Given the description of an element on the screen output the (x, y) to click on. 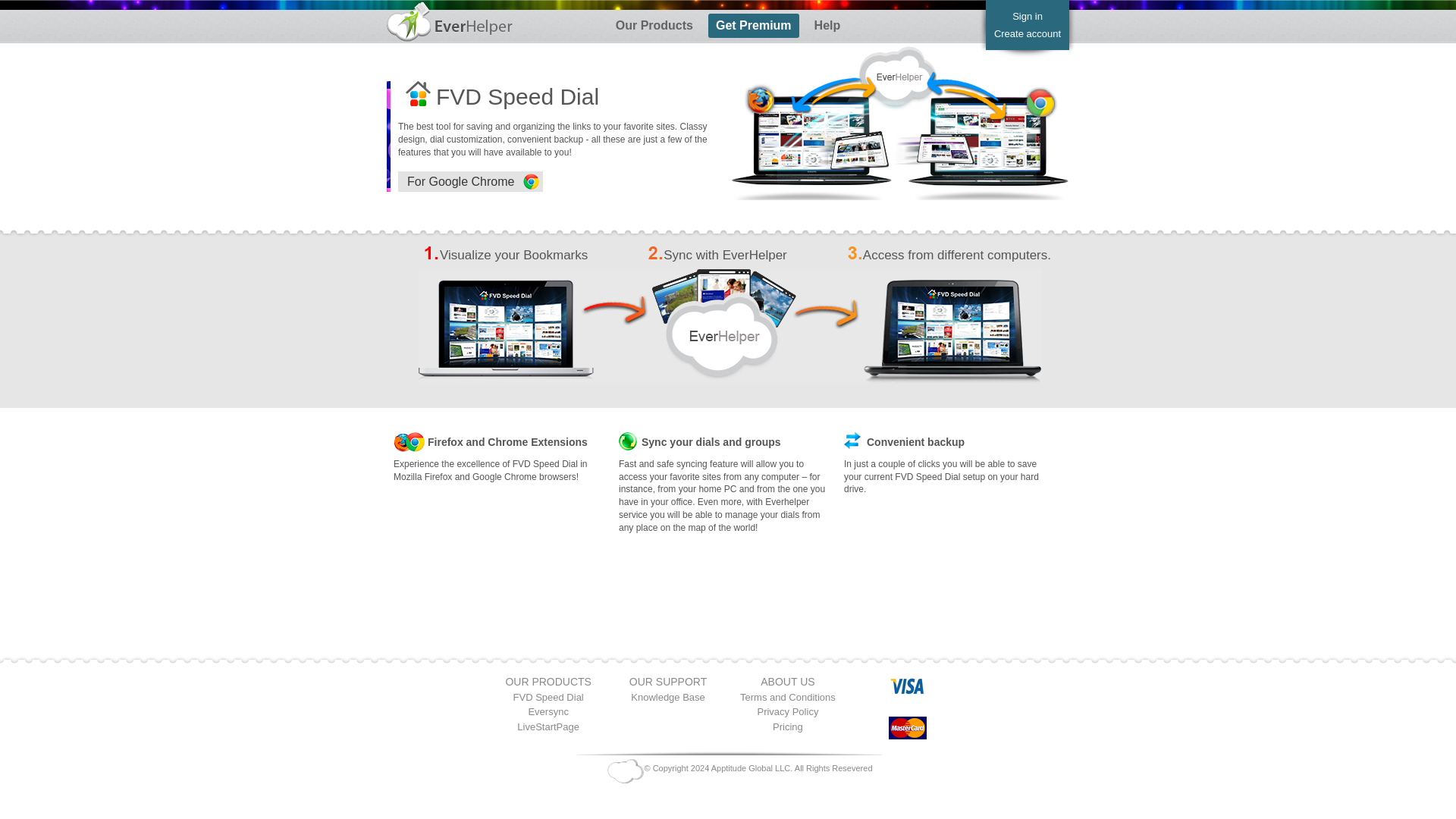
Knowledge Base (667, 696)
Our Products (654, 25)
Pricing (788, 726)
Our Products (654, 25)
Sign in (1026, 16)
FVD Speed Dial (548, 696)
Terms and Conditions (787, 696)
Knowledge Base (667, 696)
Pricing (788, 726)
Eversync (547, 711)
Terms and Conditions (787, 696)
Create account (1027, 33)
Privacy Policy (787, 711)
Sign in (1026, 16)
Create account (1027, 33)
